Given the description of an element on the screen output the (x, y) to click on. 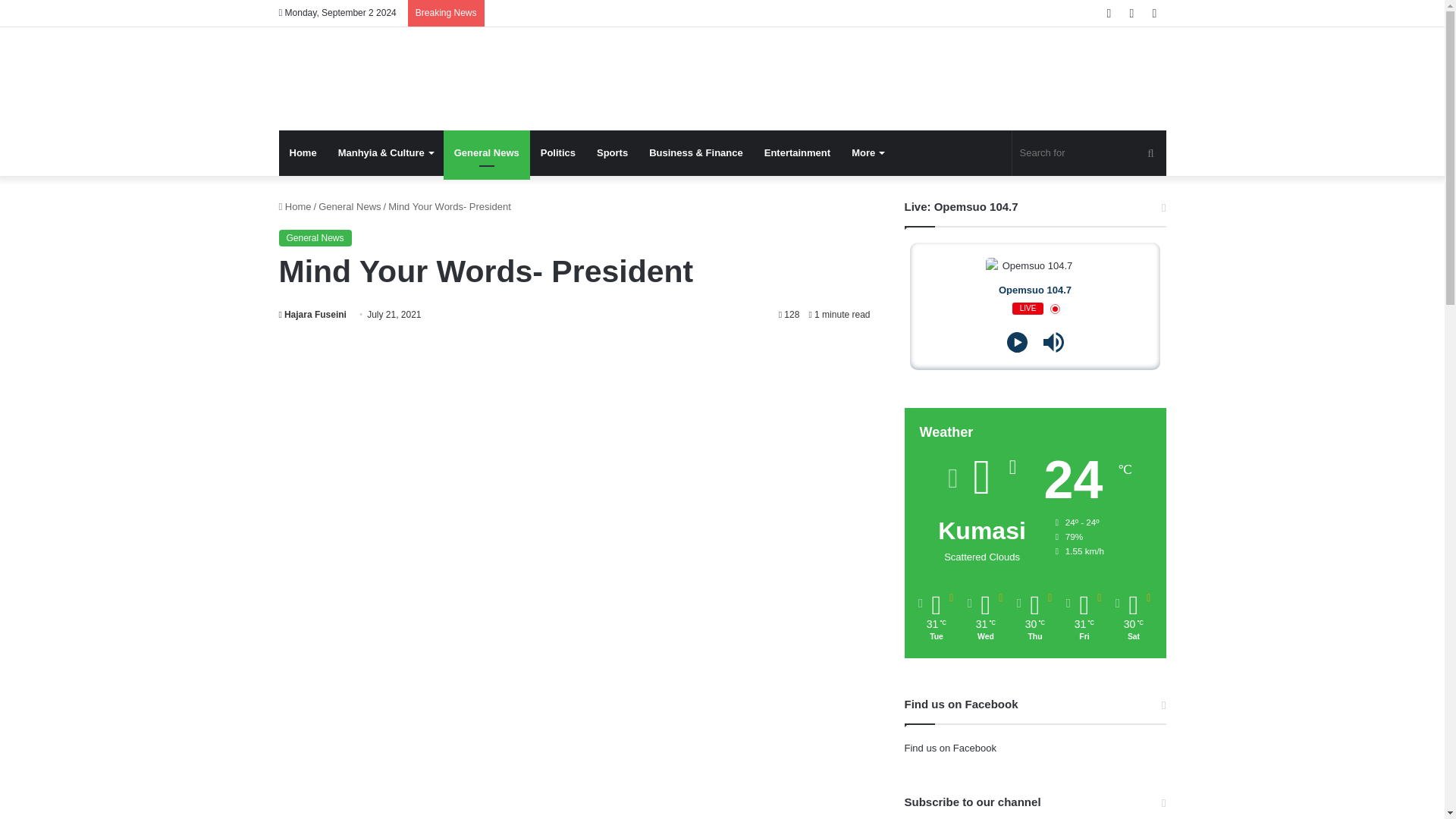
More (867, 153)
Hajara Fuseini (312, 314)
Entertainment (797, 153)
Sports (612, 153)
General News (349, 206)
Home (295, 206)
General News (315, 238)
General News (486, 153)
Politics (557, 153)
Home (303, 153)
